Given the description of an element on the screen output the (x, y) to click on. 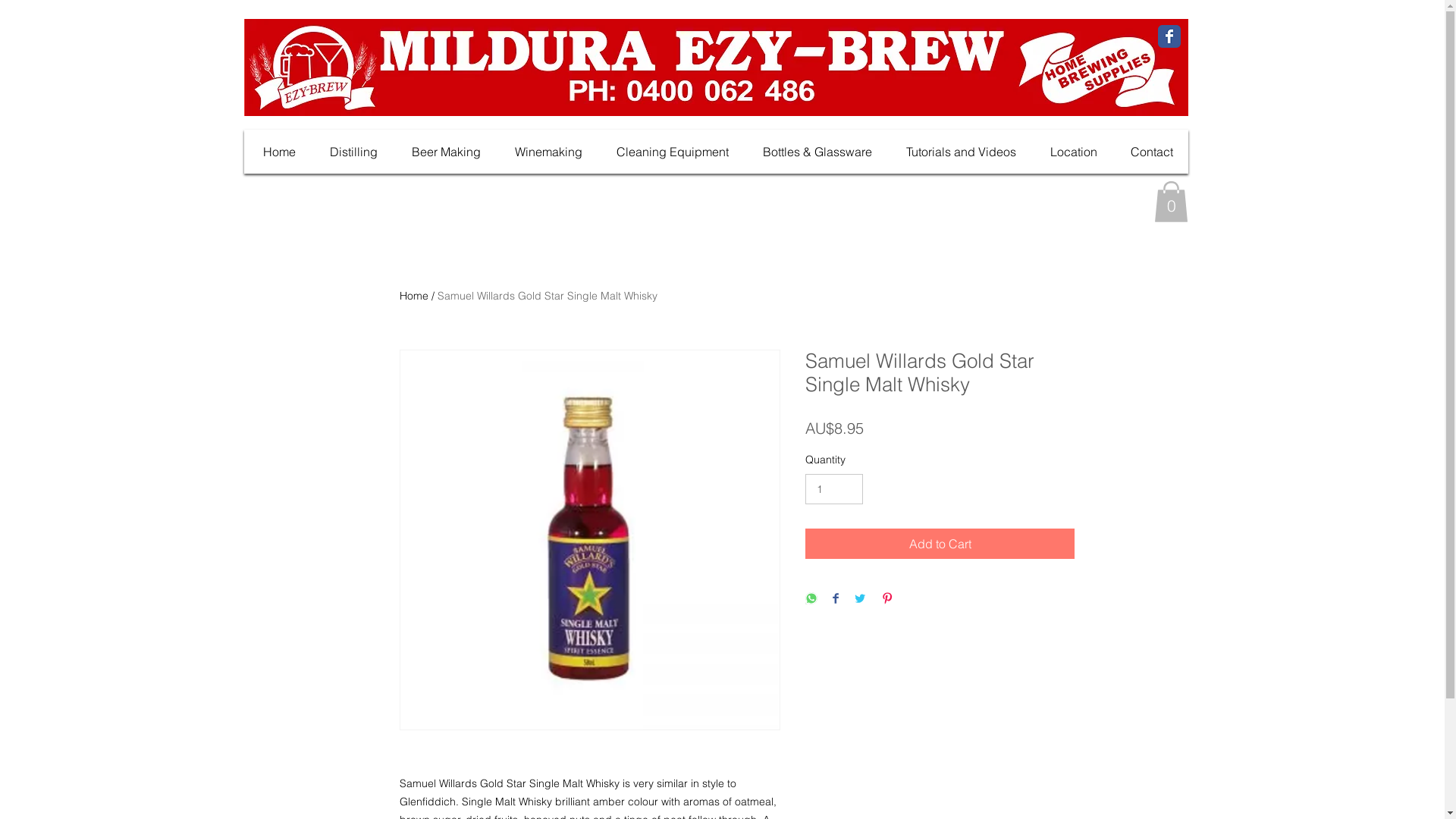
EZY-BREW (1).JPG Element type: hover (716, 67)
Add to Cart Element type: text (939, 543)
[Migrated] - Wonder Search Element type: hover (1050, 201)
Home Element type: text (413, 295)
Distilling Element type: text (352, 151)
Winemaking Element type: text (547, 151)
Cleaning Equipment Element type: text (671, 151)
Location Element type: text (1072, 151)
Tutorials and Videos Element type: text (960, 151)
Contact Element type: text (1152, 151)
0 Element type: text (1171, 201)
Beer Making Element type: text (445, 151)
Bottles & Glassware Element type: text (817, 151)
Home Element type: text (278, 151)
Samuel Willards Gold Star Single Malt Whisky Element type: text (547, 295)
